Given the description of an element on the screen output the (x, y) to click on. 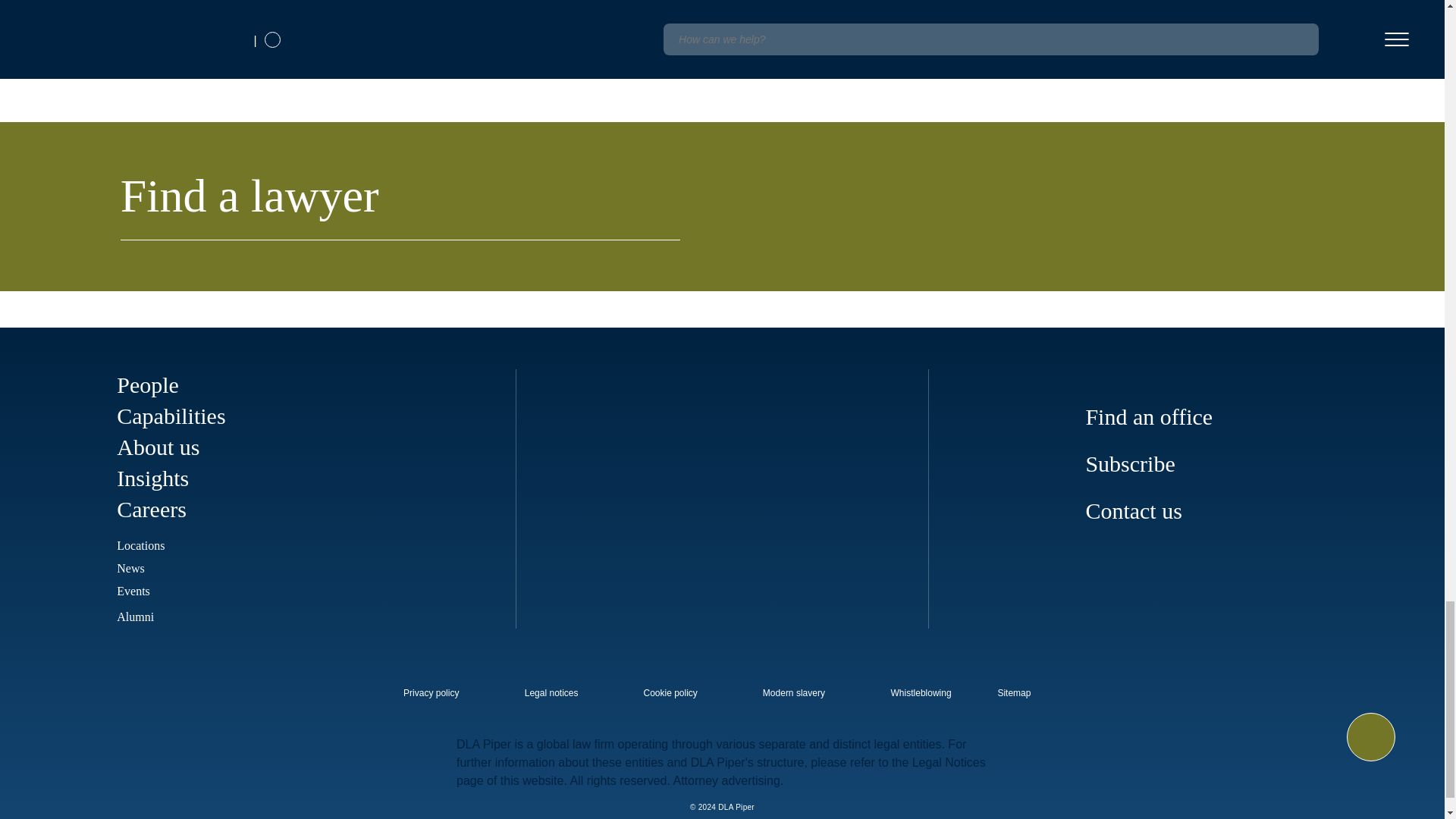
internal (793, 693)
internal (430, 693)
external (1024, 689)
internal (920, 693)
internal (549, 693)
internal (670, 693)
